Given the description of an element on the screen output the (x, y) to click on. 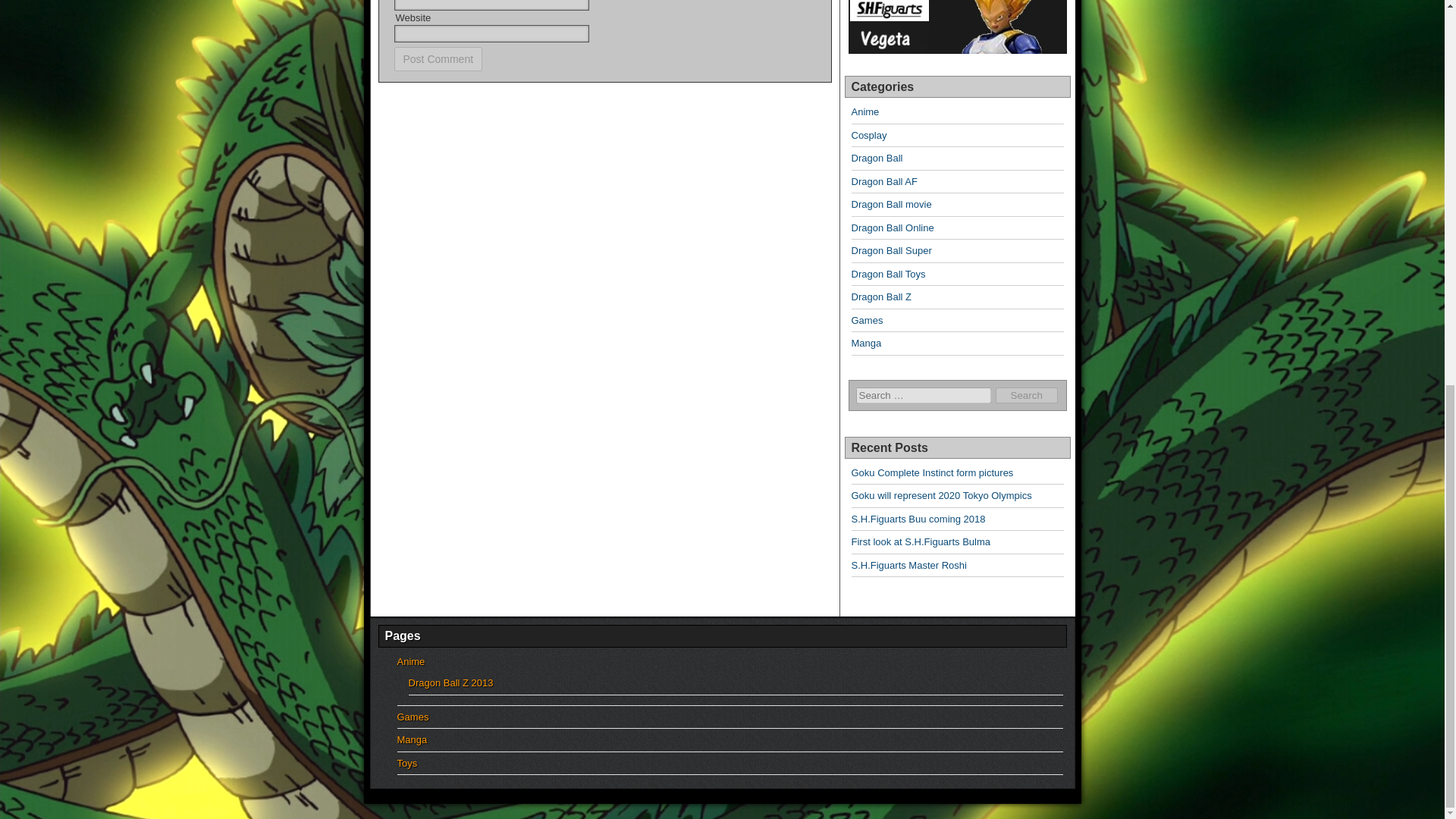
Dragon Ball Z (880, 296)
Dragon Ball Super (890, 250)
Dragon Ball Online (891, 227)
Dragon Ball movie (890, 204)
Dragon Ball Toys (887, 274)
Anime (864, 111)
Cosplay (868, 134)
Dragon Ball AF (883, 181)
Dragon Ball (876, 157)
Search (1026, 395)
